Given the description of an element on the screen output the (x, y) to click on. 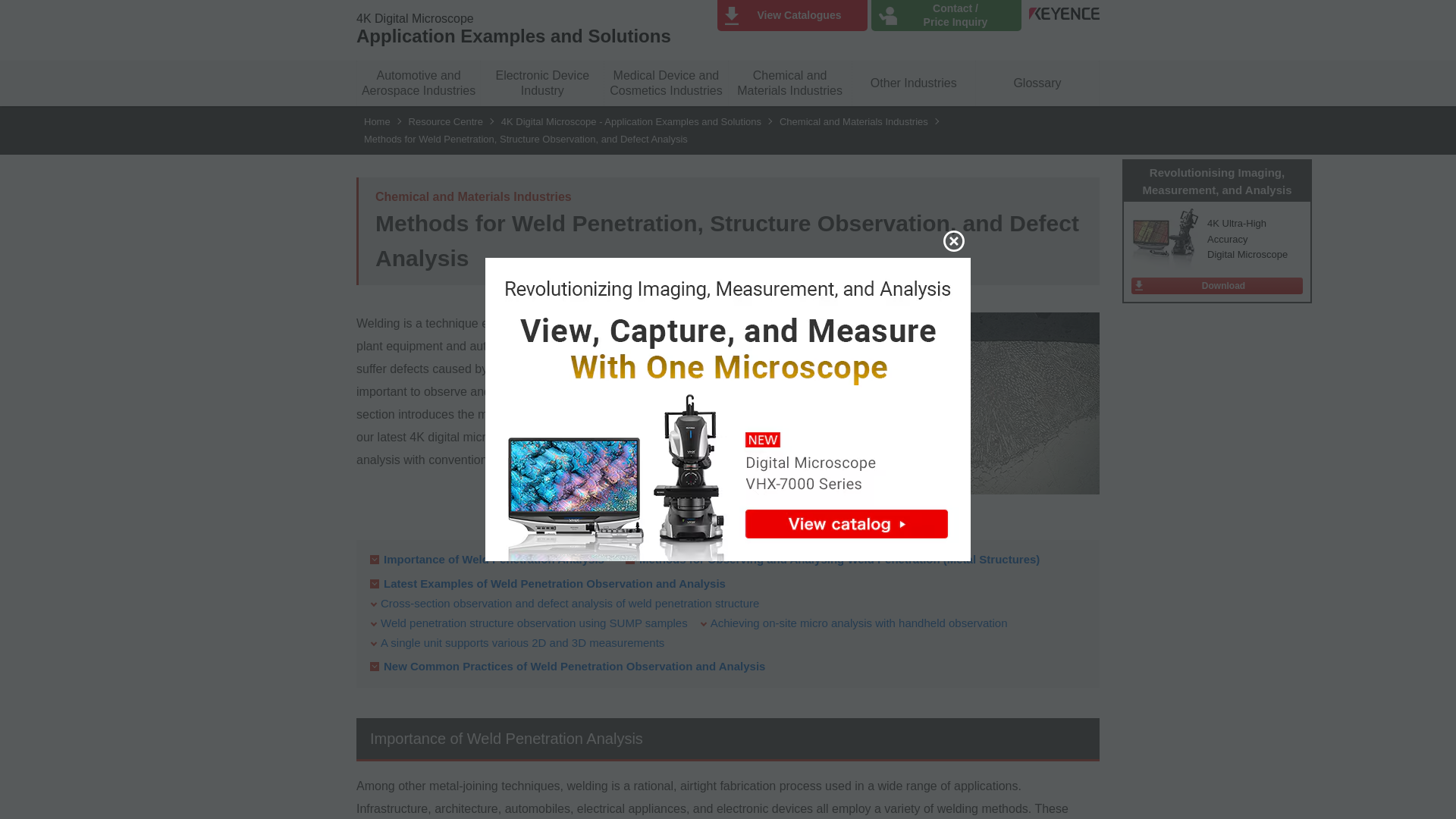
Other Industries (913, 83)
Importance of Weld Penetration Analysis (494, 558)
A single unit supports various 2D and 3D measurements (521, 641)
Medical Device and Cosmetics Industries (666, 83)
Automotive and Aerospace Industries (418, 83)
View Catalogues (792, 15)
Achieving on-site micro analysis with handheld observation (858, 622)
Chemical and Materials Industries (853, 121)
Weld penetration structure observation using SUMP samples (533, 622)
Glossary (1037, 83)
4K Digital Microscope - Application Examples and Solutions (630, 121)
Electronic Device Industry (542, 83)
